Given the description of an element on the screen output the (x, y) to click on. 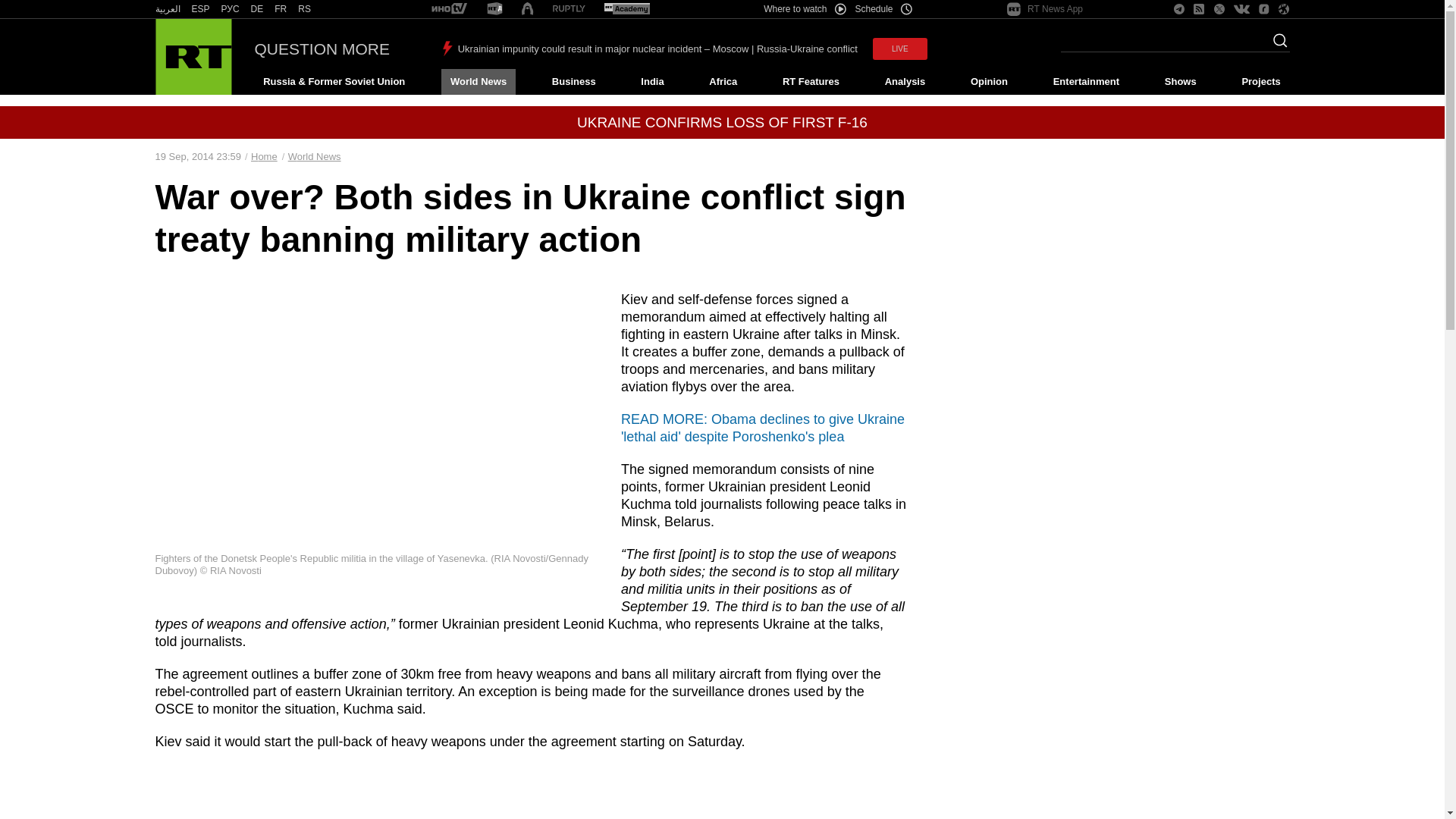
RT  (230, 9)
RS (304, 9)
RT  (199, 9)
Search (1276, 44)
RT  (448, 9)
RT News App (1045, 9)
RT  (256, 9)
RT  (494, 9)
Africa (722, 81)
Entertainment (1085, 81)
